Given the description of an element on the screen output the (x, y) to click on. 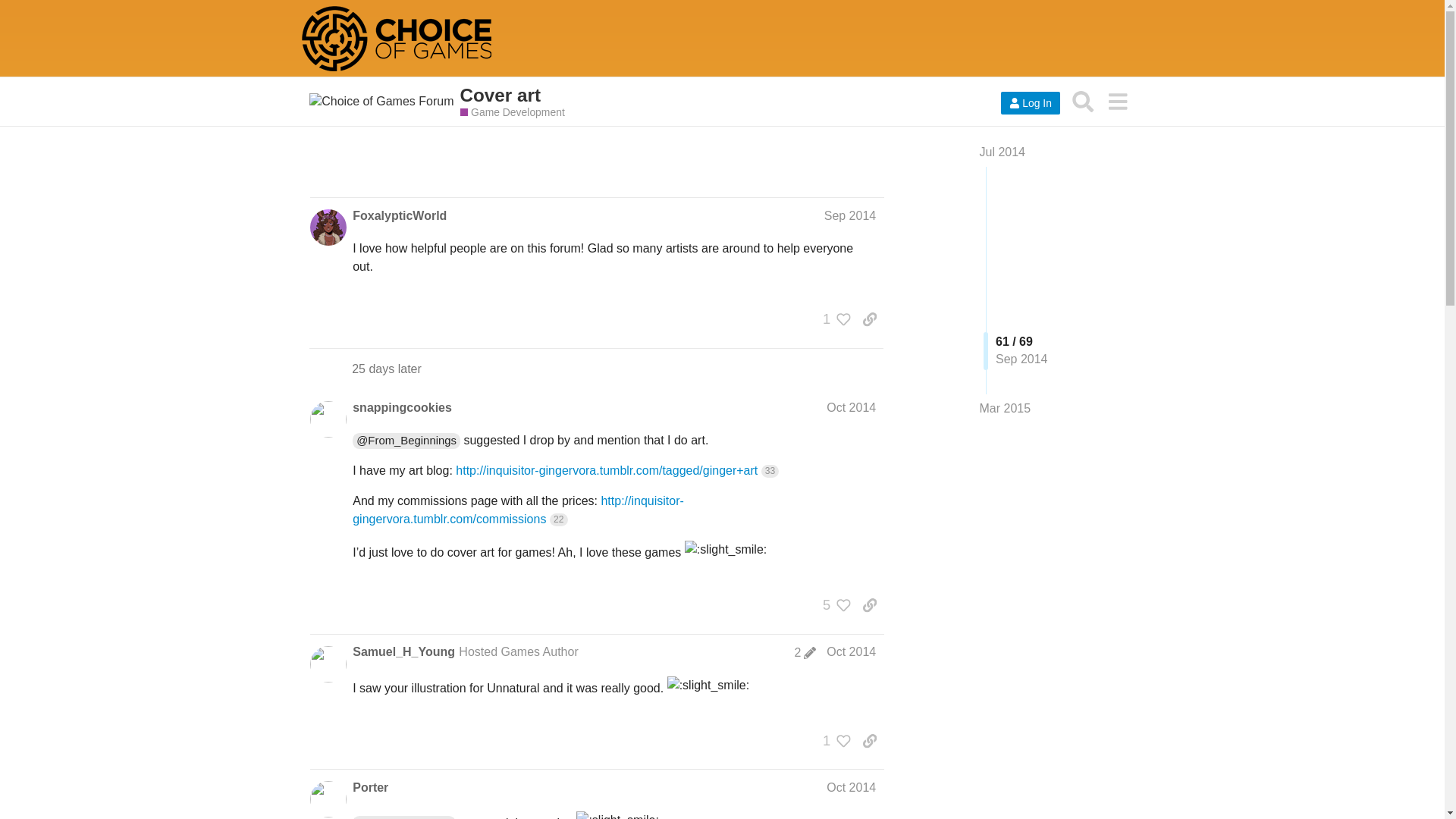
1 (832, 740)
22 clicks (558, 519)
Post date (851, 407)
Sep 2014 (850, 215)
Jump to the last post (1004, 408)
Jump to the first post (1002, 151)
Oct 2014 (851, 787)
copy a link to this post to clipboard (869, 319)
Log In (1030, 102)
Cover art (718, 95)
Oct 2014 (851, 407)
Jul 2014 (1002, 151)
snappingcookies (401, 407)
menu (1117, 100)
5 people liked this post (832, 605)
